Given the description of an element on the screen output the (x, y) to click on. 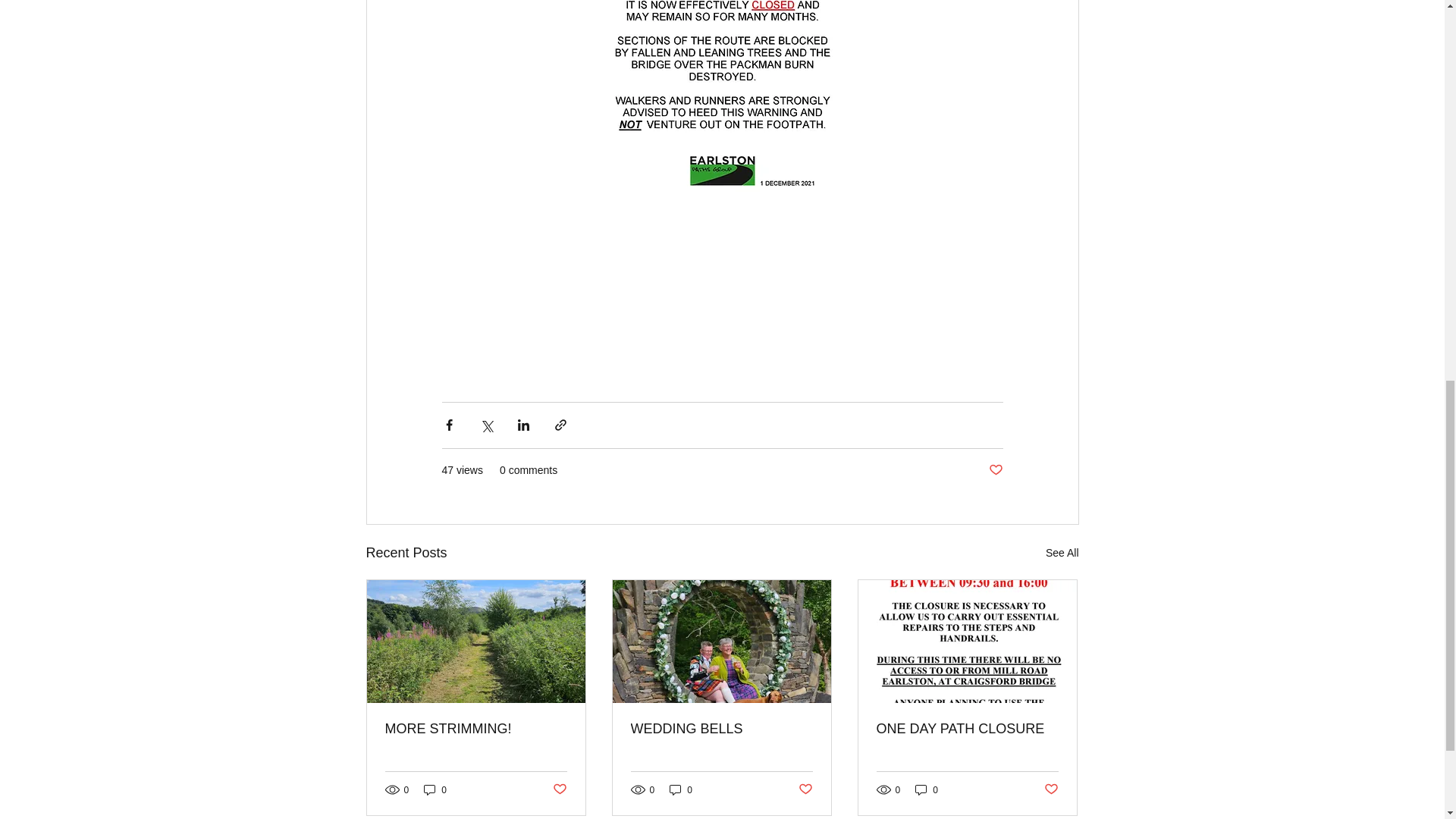
Post not marked as liked (804, 789)
0 (435, 789)
See All (1061, 553)
Post not marked as liked (1050, 789)
MORE STRIMMING! (476, 729)
WEDDING BELLS (721, 729)
Post not marked as liked (558, 789)
0 (926, 789)
0 (681, 789)
Post not marked as liked (995, 470)
